Given the description of an element on the screen output the (x, y) to click on. 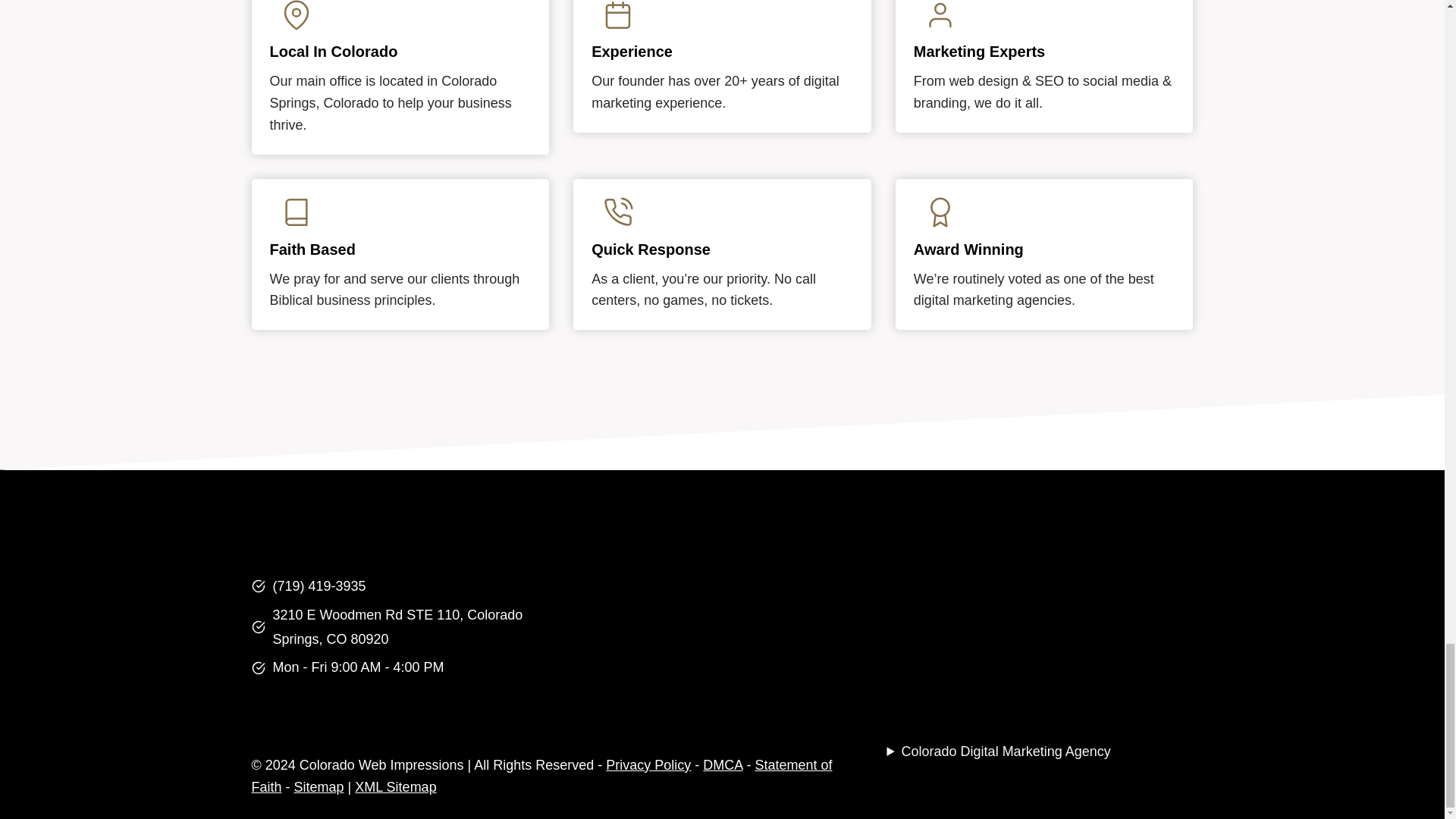
Statement of Faith (541, 775)
3210 E Woodmen Rd STE 110, Colorado Springs, CO 80920 (397, 627)
XML Sitemap (395, 786)
Sitemap (318, 786)
Privacy Policy (647, 765)
DMCA (722, 765)
